Given the description of an element on the screen output the (x, y) to click on. 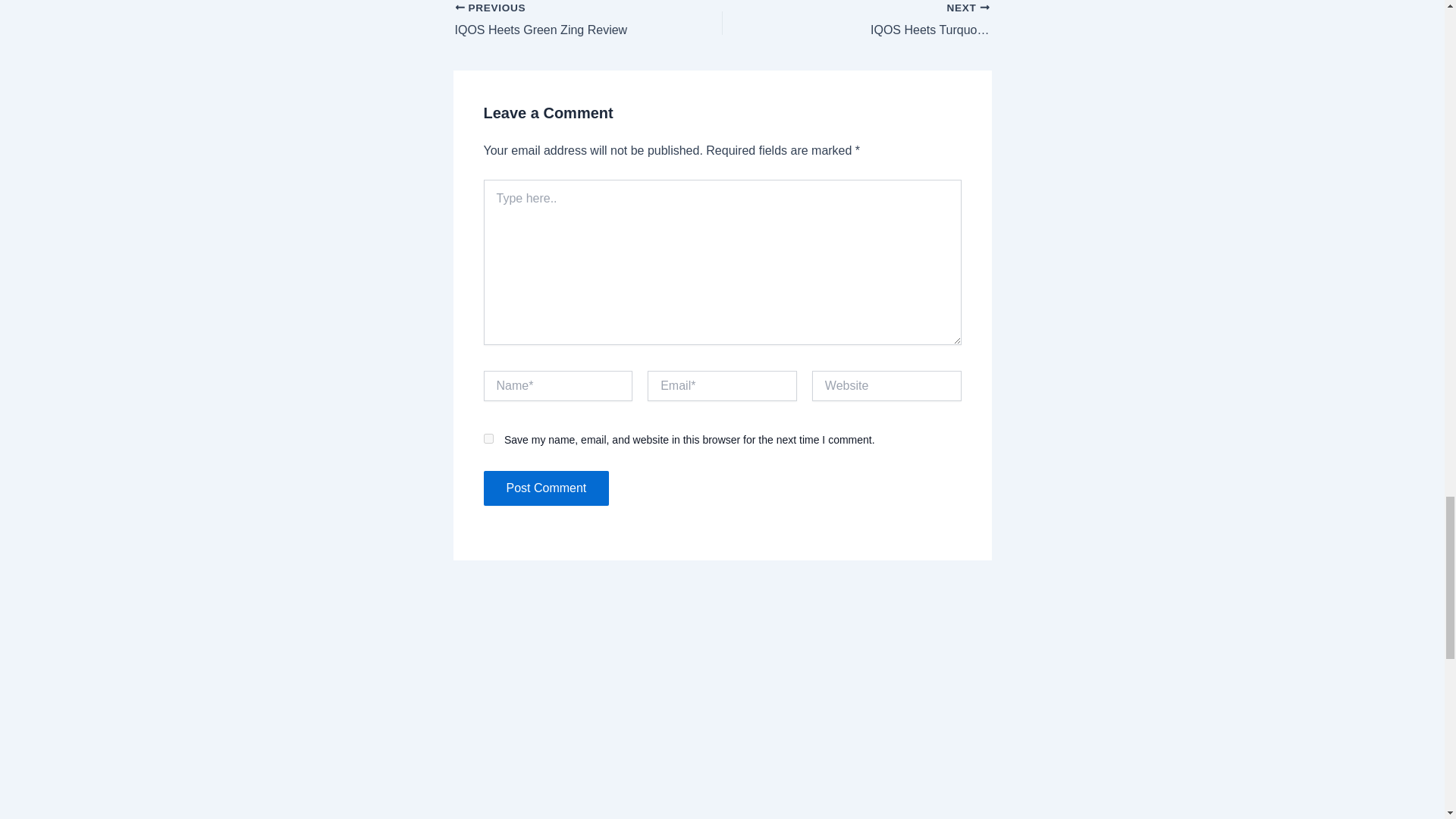
IQOS Heets Turquoise Selection Review (923, 20)
IQOS Heets Green Zing Review (561, 20)
Post Comment (546, 488)
yes (488, 438)
